Given the description of an element on the screen output the (x, y) to click on. 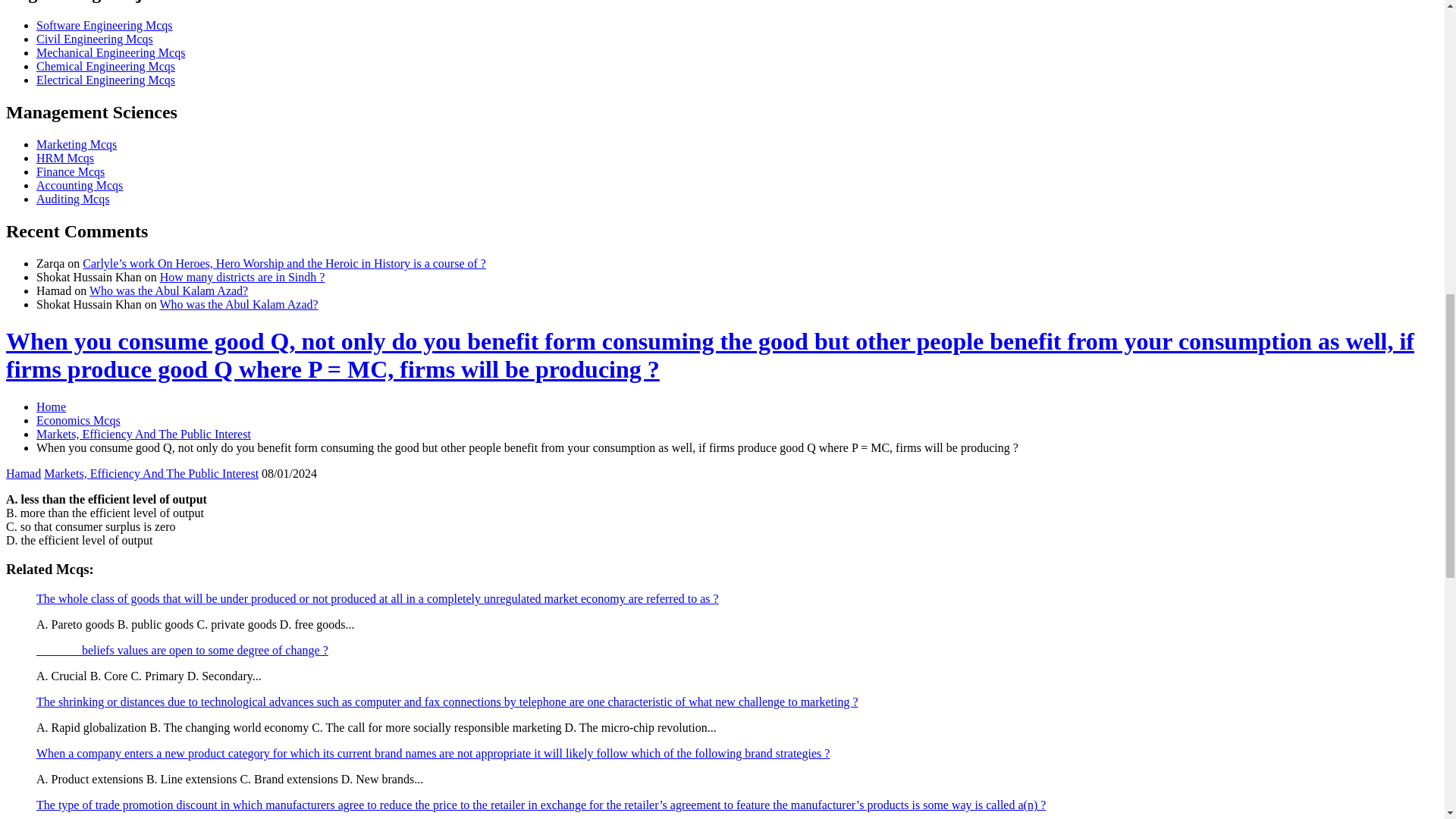
Posts by Hamad (22, 472)
Software Engineering Mcqs (104, 24)
